Given the description of an element on the screen output the (x, y) to click on. 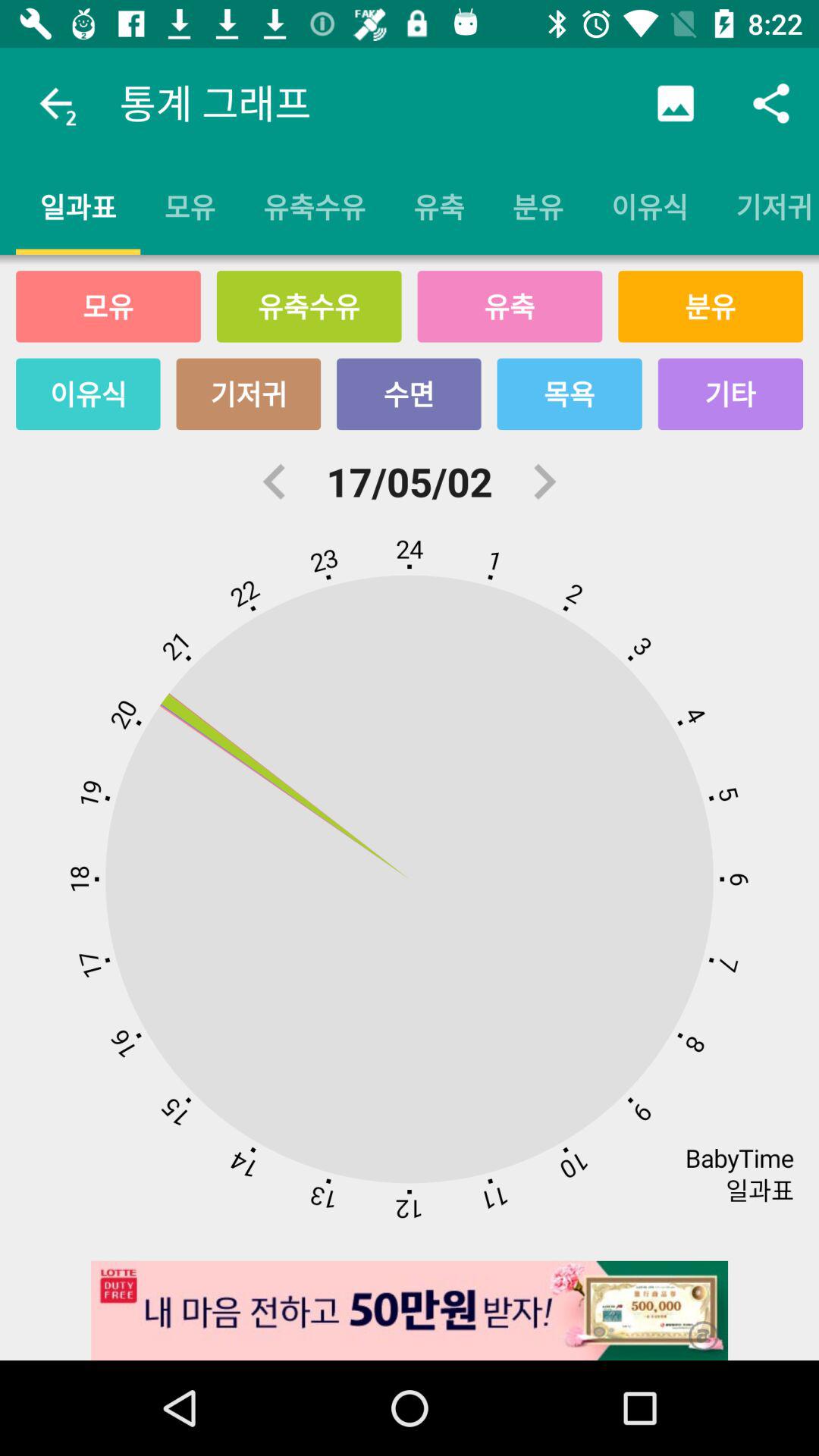
turn off item to the left of the 17/05/02 icon (274, 481)
